Given the description of an element on the screen output the (x, y) to click on. 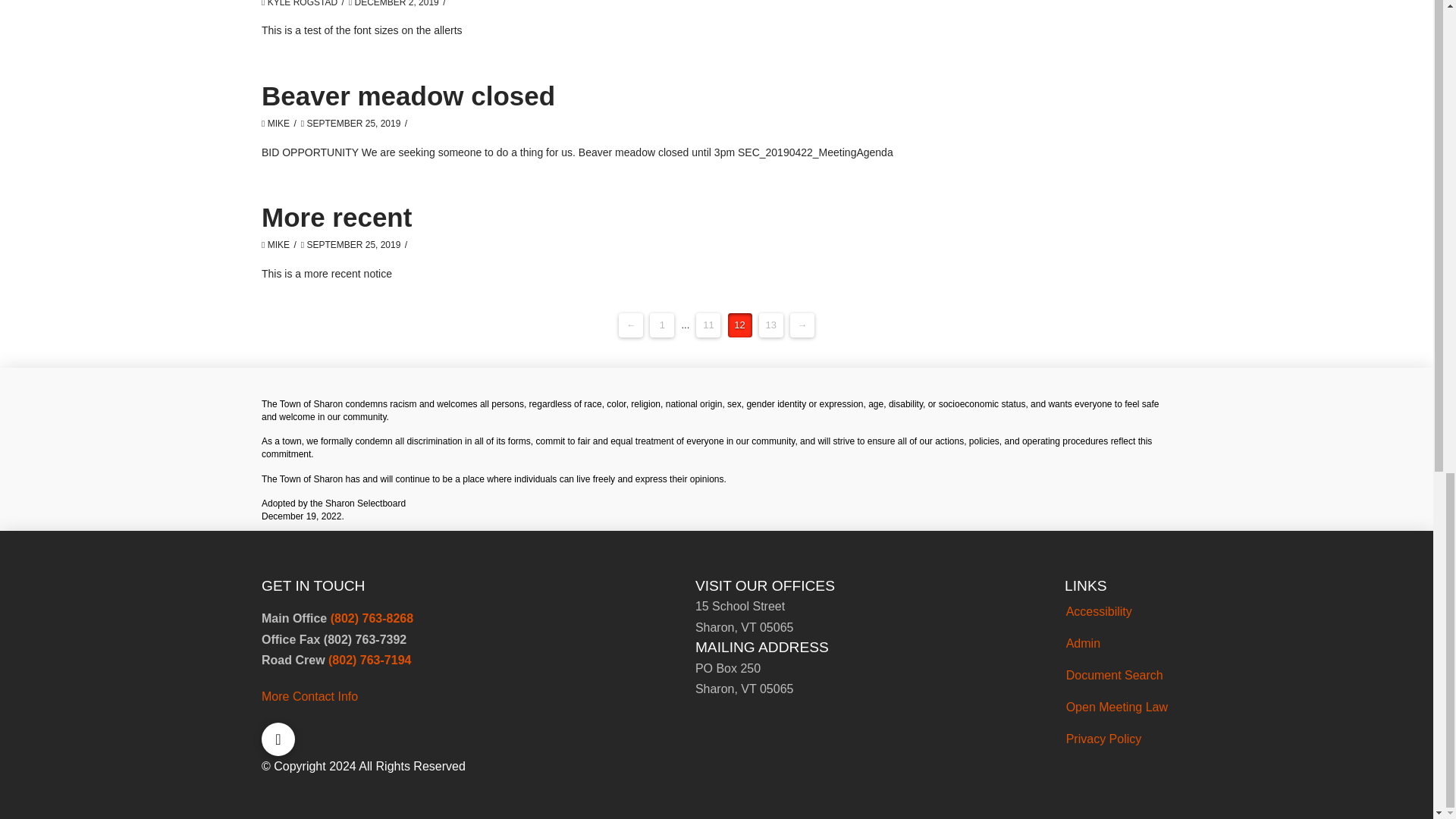
More recent (337, 216)
Permalink to: "More recent" (337, 216)
Beaver meadow closed (408, 95)
Accessibility (1117, 612)
11 (707, 324)
13 (770, 324)
11 (707, 324)
Permalink to: "Beaver meadow closed" (408, 95)
Open Meeting Law (1117, 707)
First Page (661, 324)
